Given the description of an element on the screen output the (x, y) to click on. 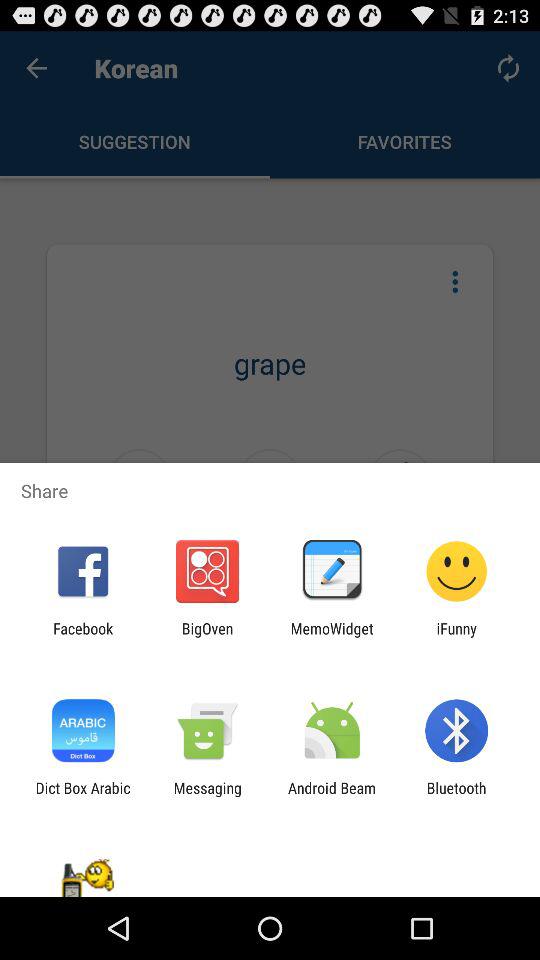
tap the app next to android beam icon (456, 796)
